Given the description of an element on the screen output the (x, y) to click on. 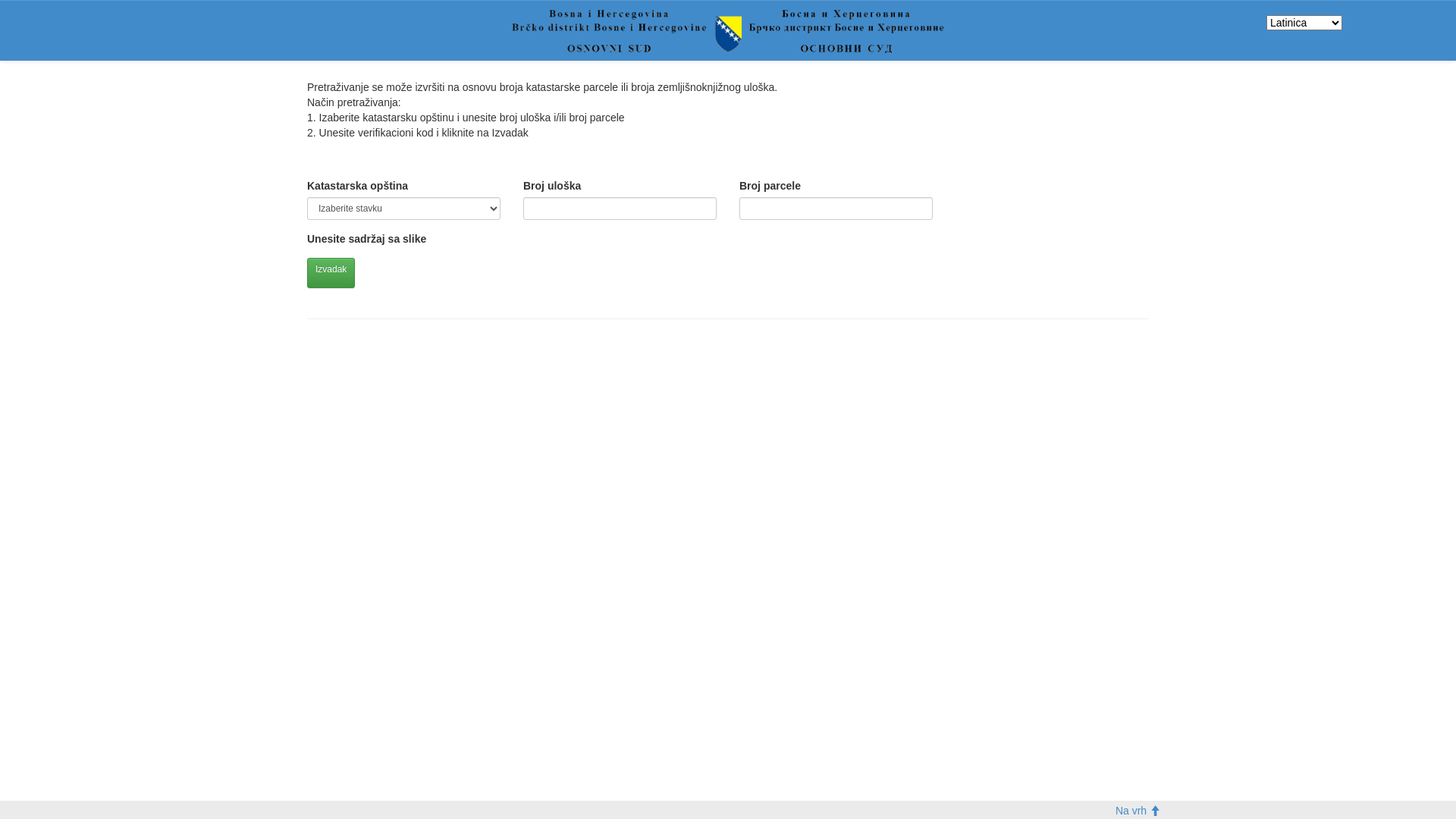
Na vrh Element type: text (1137, 810)
Izvadak Element type: text (330, 272)
